Given the description of an element on the screen output the (x, y) to click on. 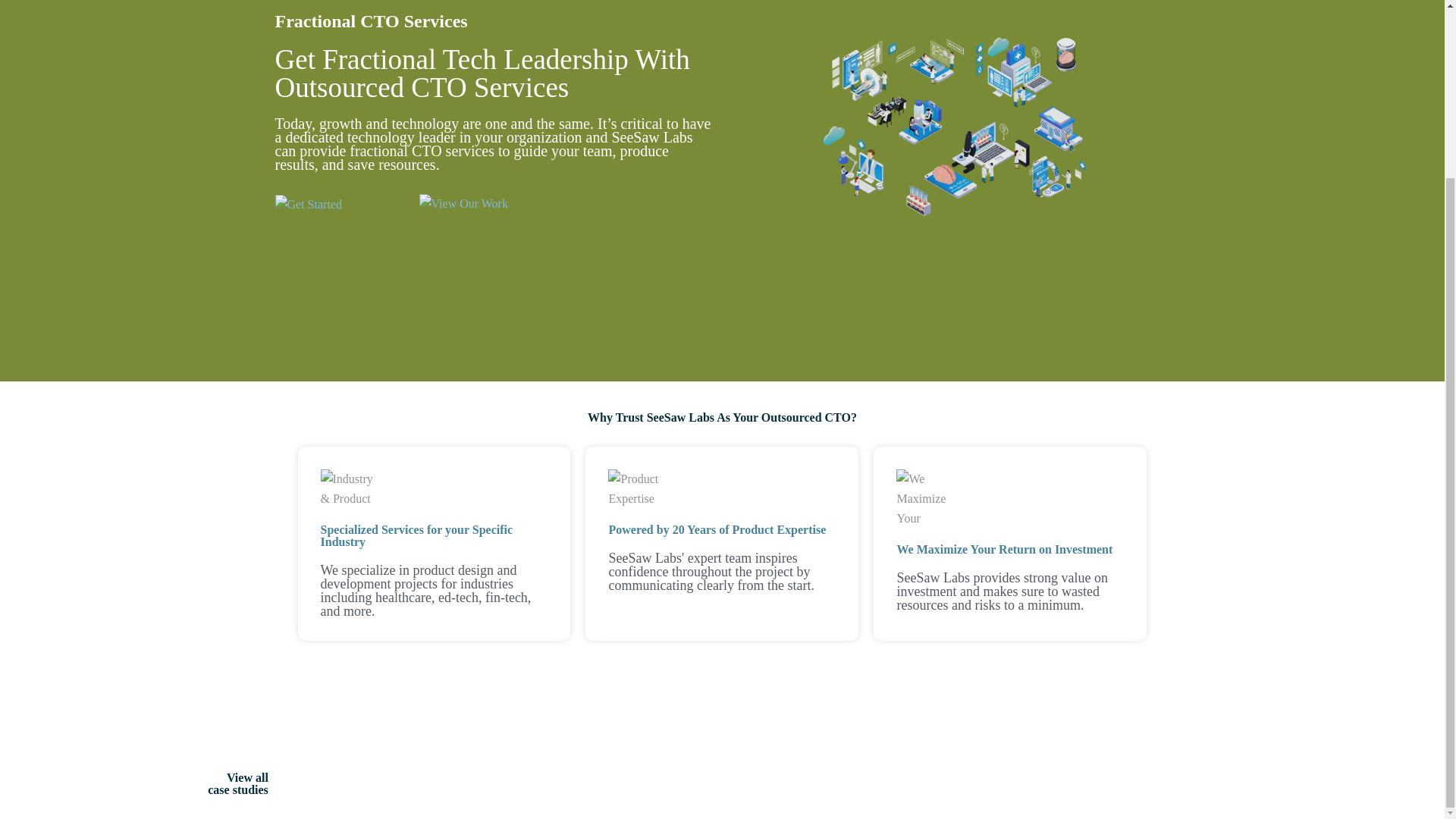
Product Expertise (638, 488)
We Maximize Your (926, 498)
